Given the description of an element on the screen output the (x, y) to click on. 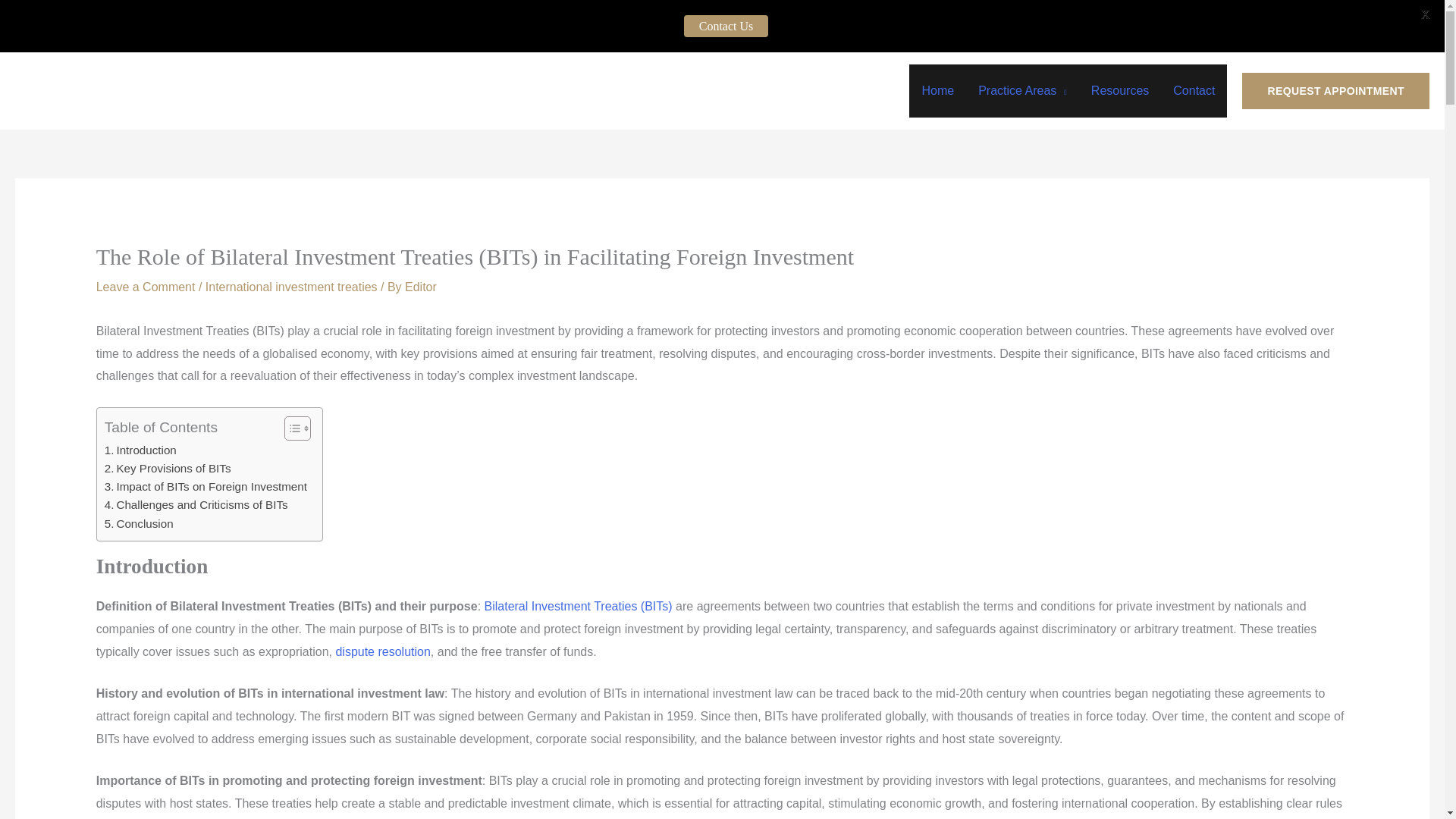
Conclusion (138, 524)
Impact of BITs on Foreign Investment (205, 486)
Leave a Comment (145, 286)
dispute resolution (381, 651)
Key Provisions of BITs (167, 468)
Home (937, 90)
International investment treaties (291, 286)
Key Provisions of BITs (167, 468)
Contact (1193, 90)
View all posts by Editor (420, 286)
REQUEST APPOINTMENT (1335, 90)
Challenges and Criticisms of BITs (196, 505)
Introduction (140, 450)
Resources (1119, 90)
Practice Areas (1022, 90)
